Given the description of an element on the screen output the (x, y) to click on. 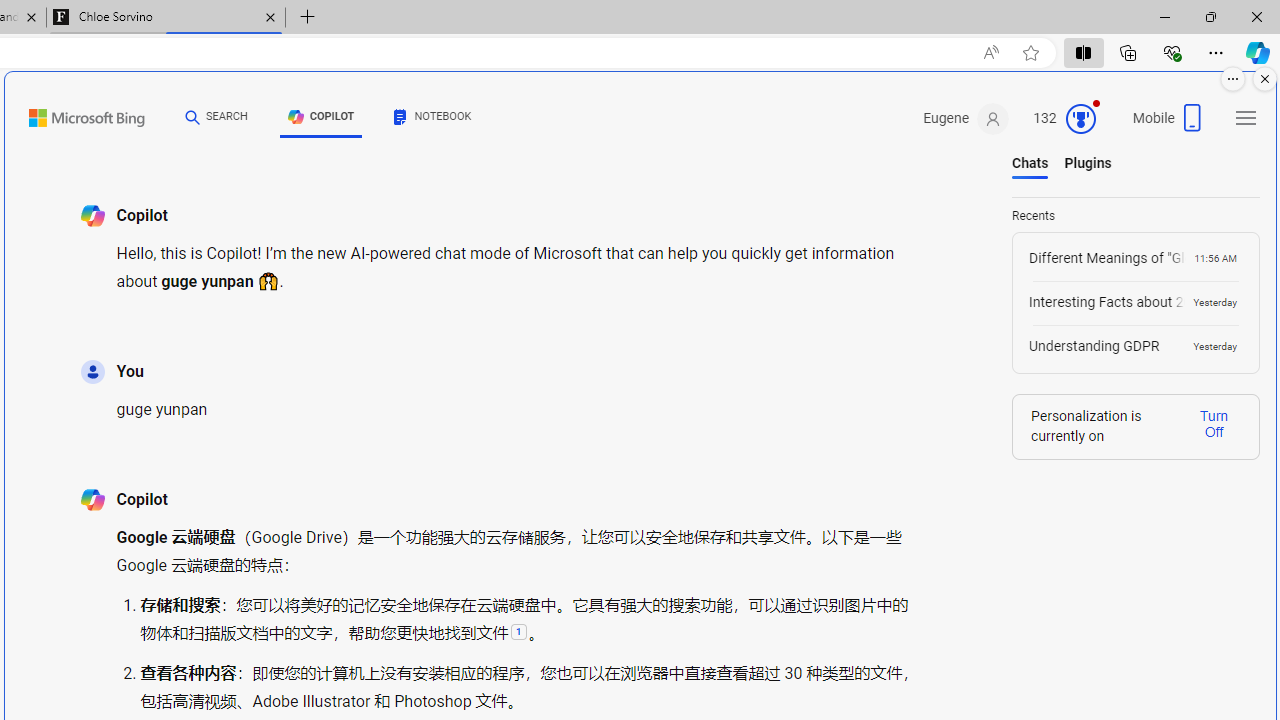
Microsoft Rewards 123 (1067, 119)
SEARCH (216, 117)
More options. (1233, 79)
NOTEBOOK (433, 120)
Plugins (1087, 163)
Load chat (1135, 346)
